Given the description of an element on the screen output the (x, y) to click on. 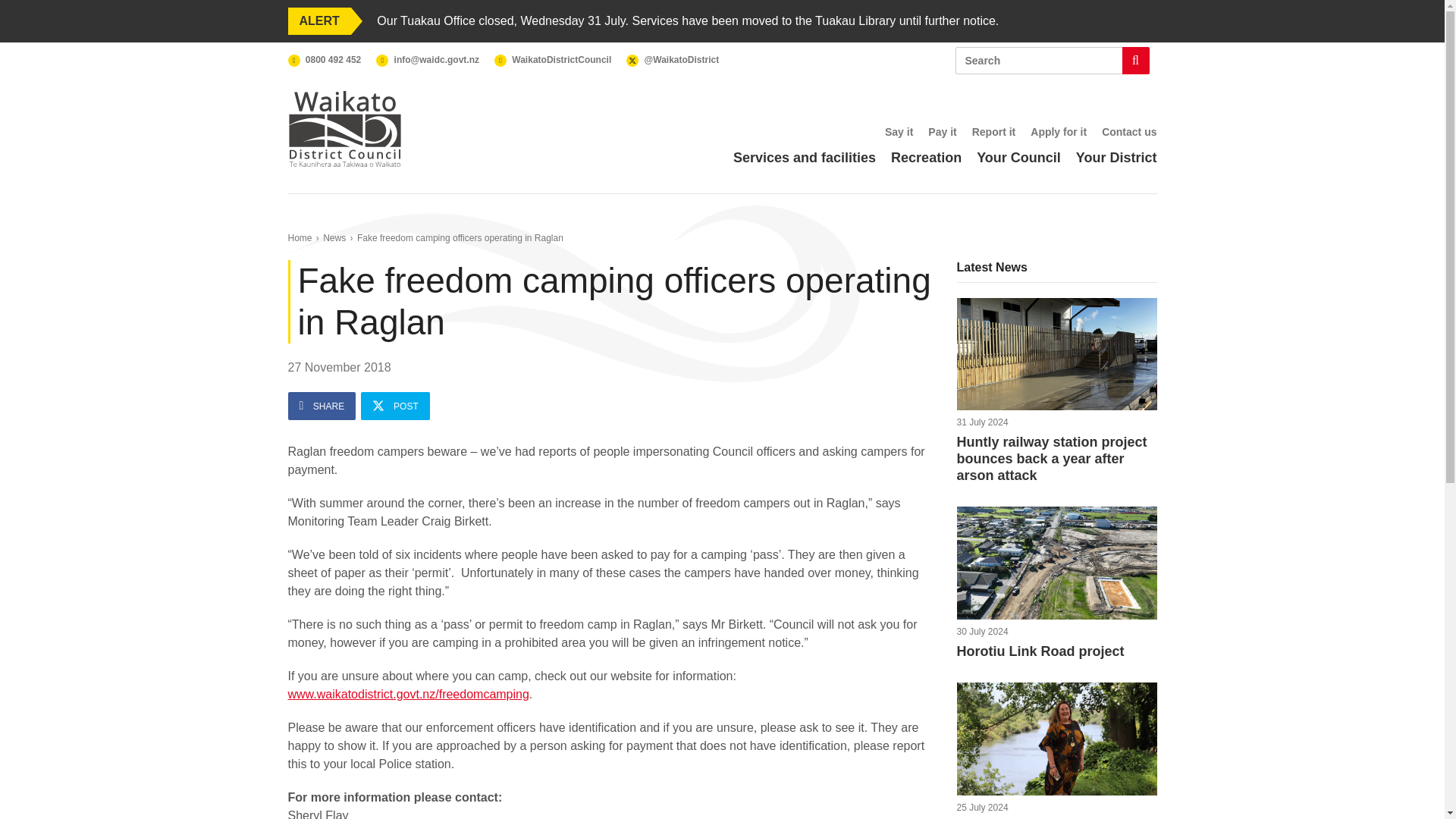
Apply for it (1058, 132)
Mayor Jacqui Church (1056, 738)
Search input (1052, 60)
POST (395, 406)
SHARE (322, 406)
Contact us (1129, 132)
Huntly railway station (1056, 750)
Your Council (1056, 354)
Home (1018, 157)
Horotiu Link Road (300, 237)
News (1056, 562)
Pay it (334, 237)
Your District (942, 132)
Services and facilities (1116, 157)
